Given the description of an element on the screen output the (x, y) to click on. 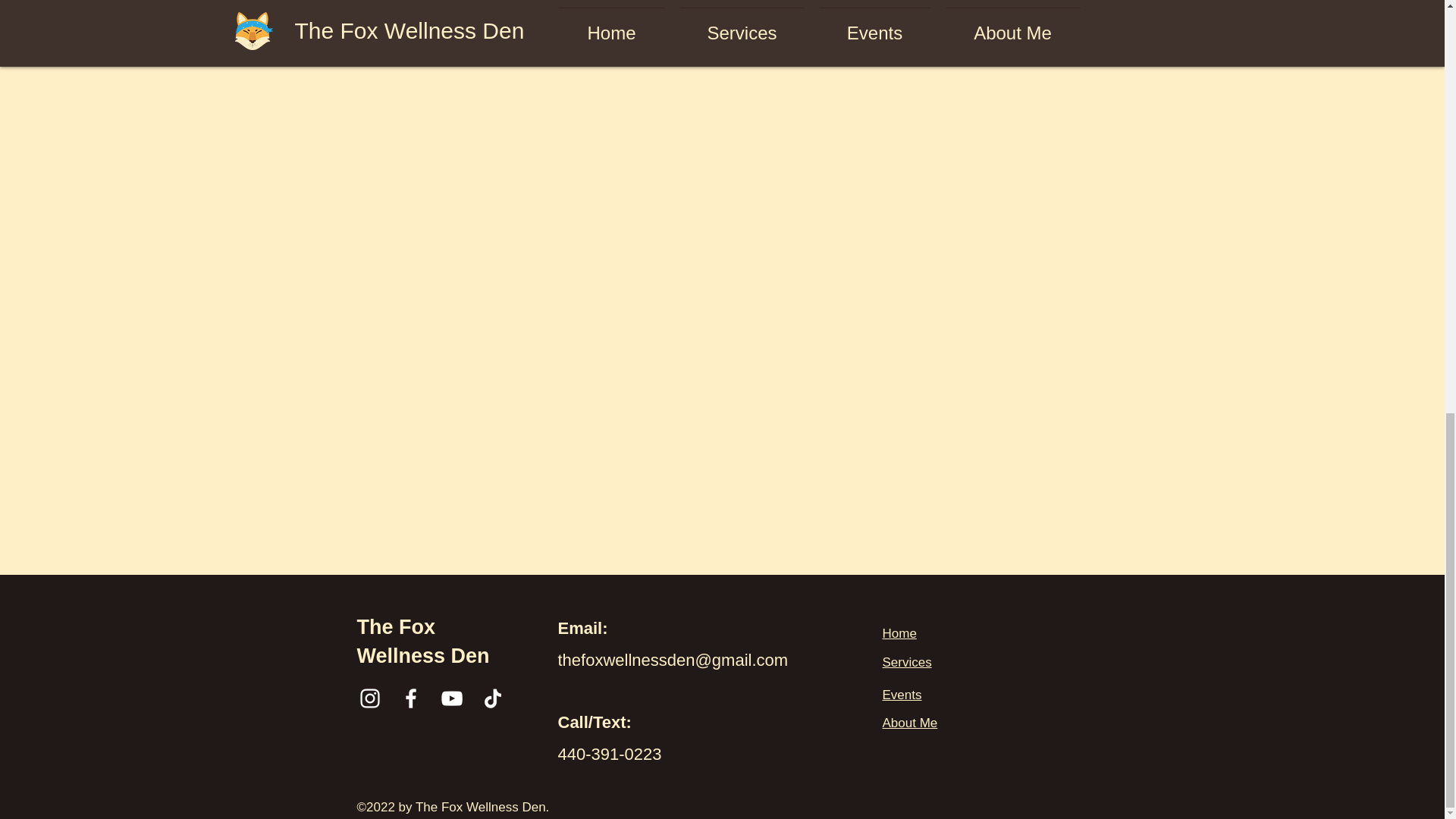
Events (901, 694)
Home (899, 633)
Services (906, 662)
About Me (909, 722)
